Given the description of an element on the screen output the (x, y) to click on. 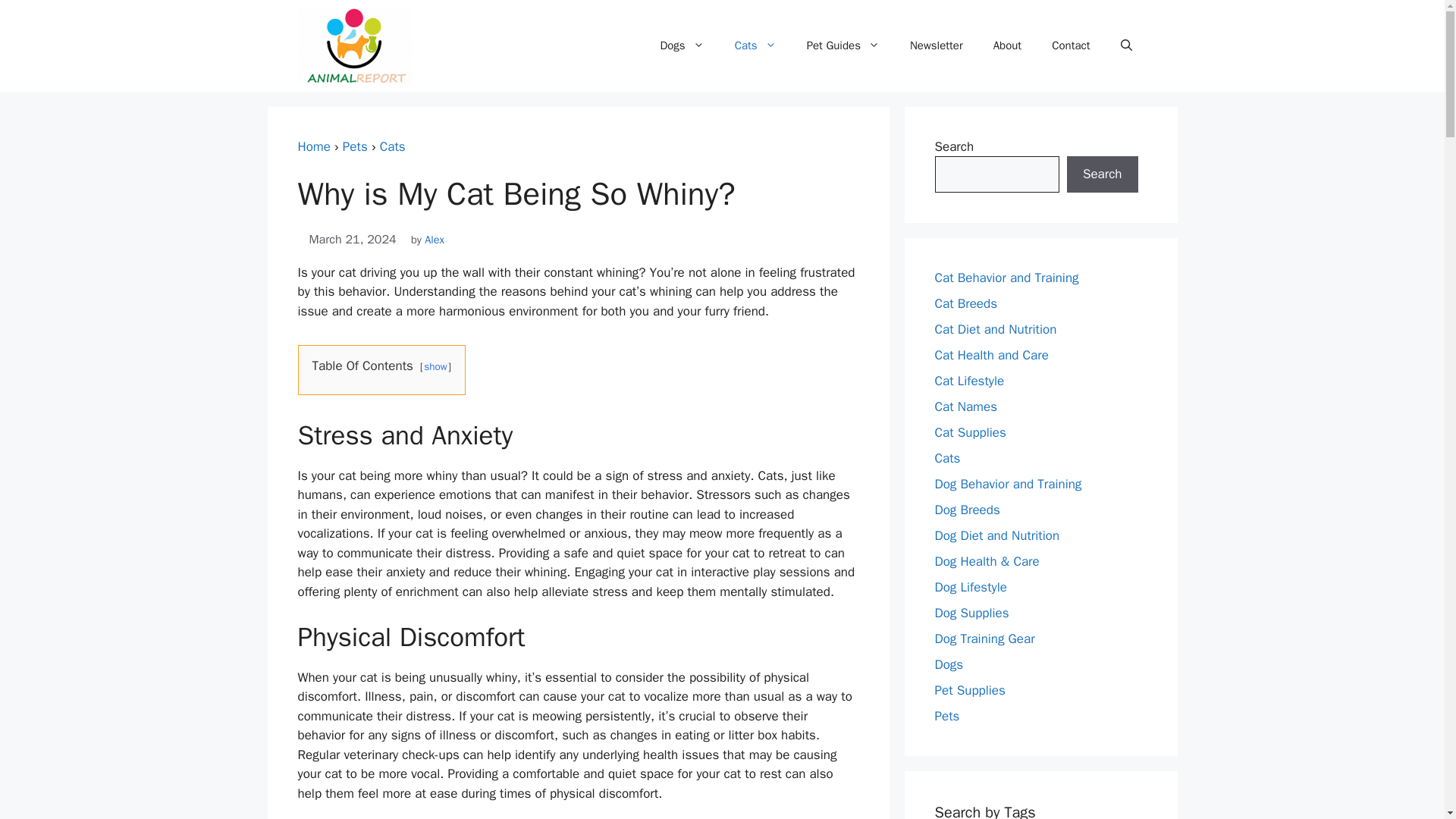
View all posts by Alex (434, 239)
Home (313, 145)
Contact (1070, 44)
Pet Guides (843, 44)
Cats (393, 145)
Alex (434, 239)
Dogs (682, 44)
Newsletter (936, 44)
About (1007, 44)
Cats (393, 145)
